Given the description of an element on the screen output the (x, y) to click on. 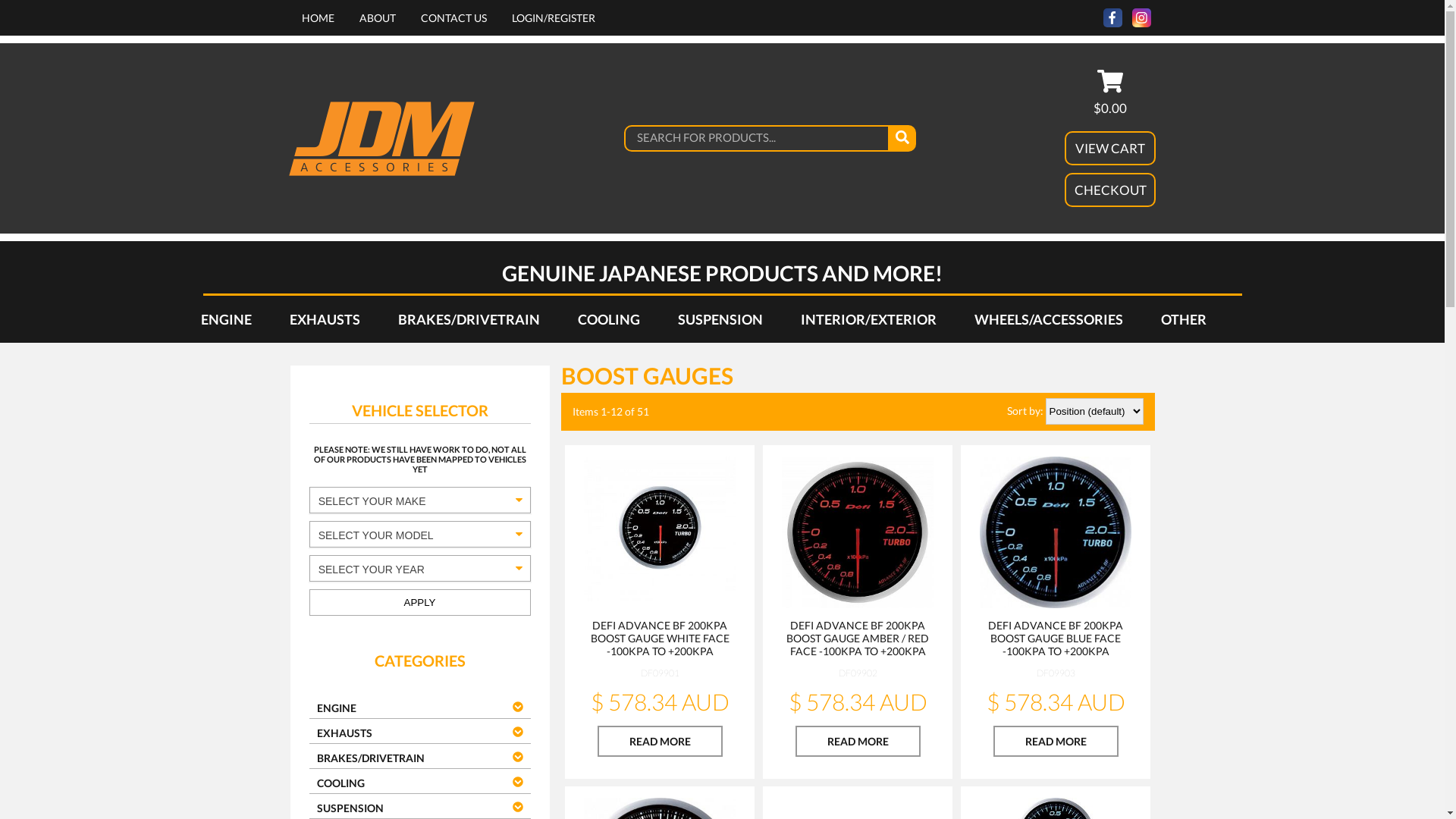
CHECKOUT Element type: text (1110, 189)
BRAKES/DRIVETRAIN Element type: text (468, 319)
LOGIN/REGISTER Element type: text (552, 17)
APPLY Element type: text (419, 602)
EXHAUSTS Element type: text (323, 319)
WHEELS/ACCESSORIES Element type: text (1048, 319)
CONTACT US Element type: text (453, 17)
ABOUT Element type: text (377, 17)
VIEW CART Element type: text (1110, 148)
COOLING Element type: text (608, 319)
INTERIOR/EXTERIOR Element type: text (867, 319)
ENGINE Element type: text (226, 319)
SUSPENSION Element type: text (719, 319)
HOME Element type: text (317, 17)
OTHER Element type: text (1183, 319)
